Given the description of an element on the screen output the (x, y) to click on. 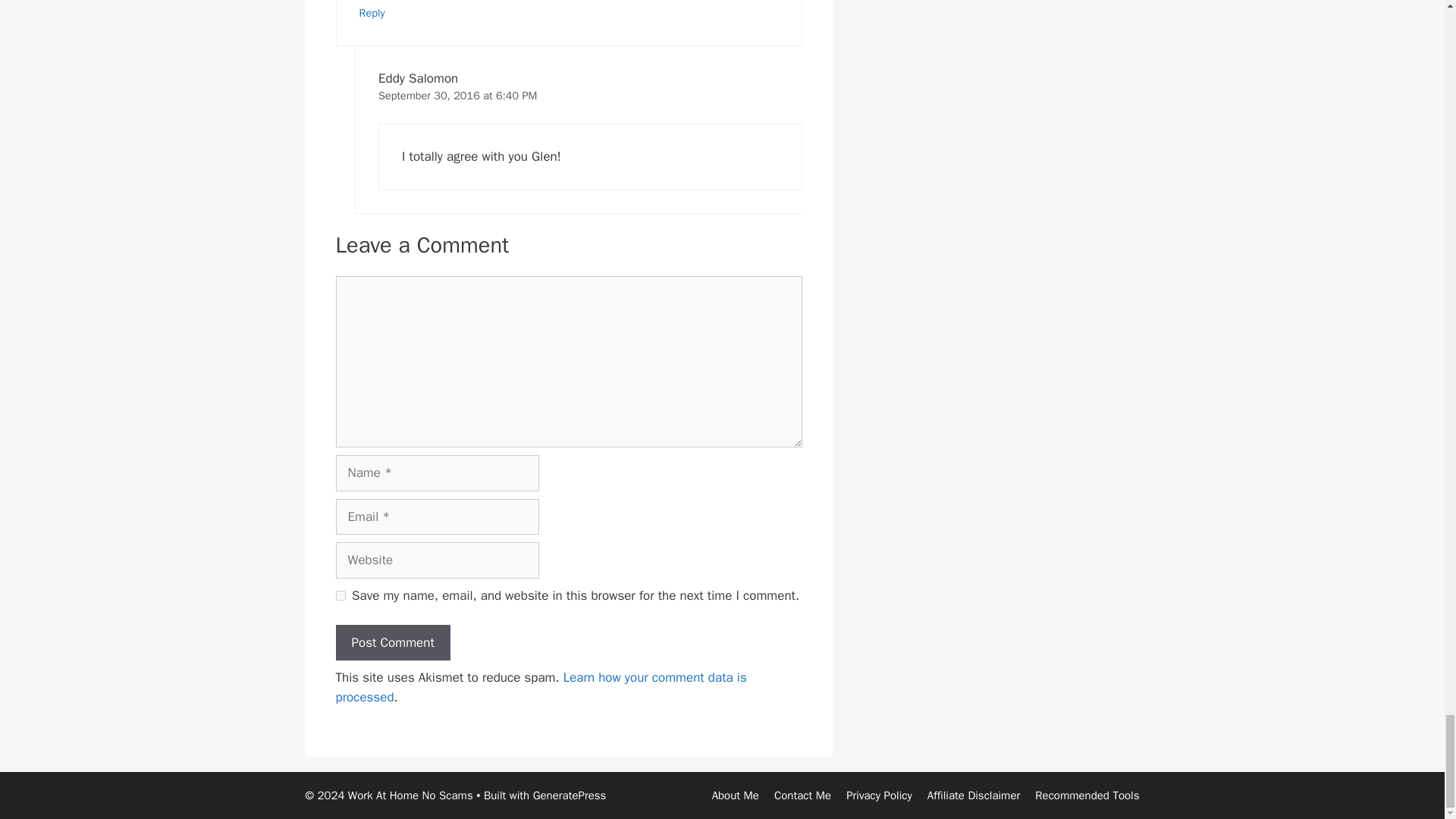
Post Comment (391, 642)
yes (339, 595)
